Given the description of an element on the screen output the (x, y) to click on. 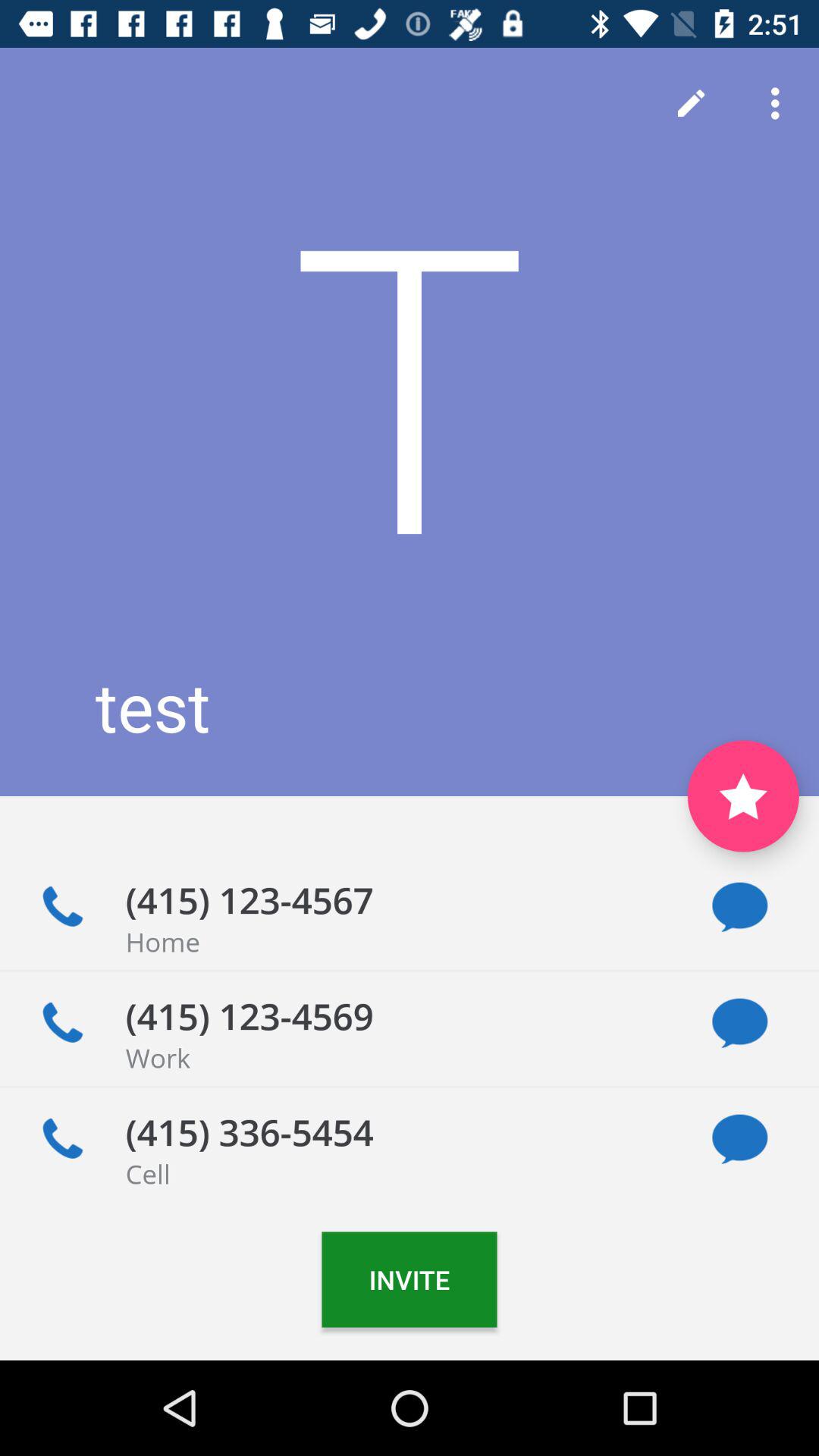
send a text message to this number (739, 907)
